Given the description of an element on the screen output the (x, y) to click on. 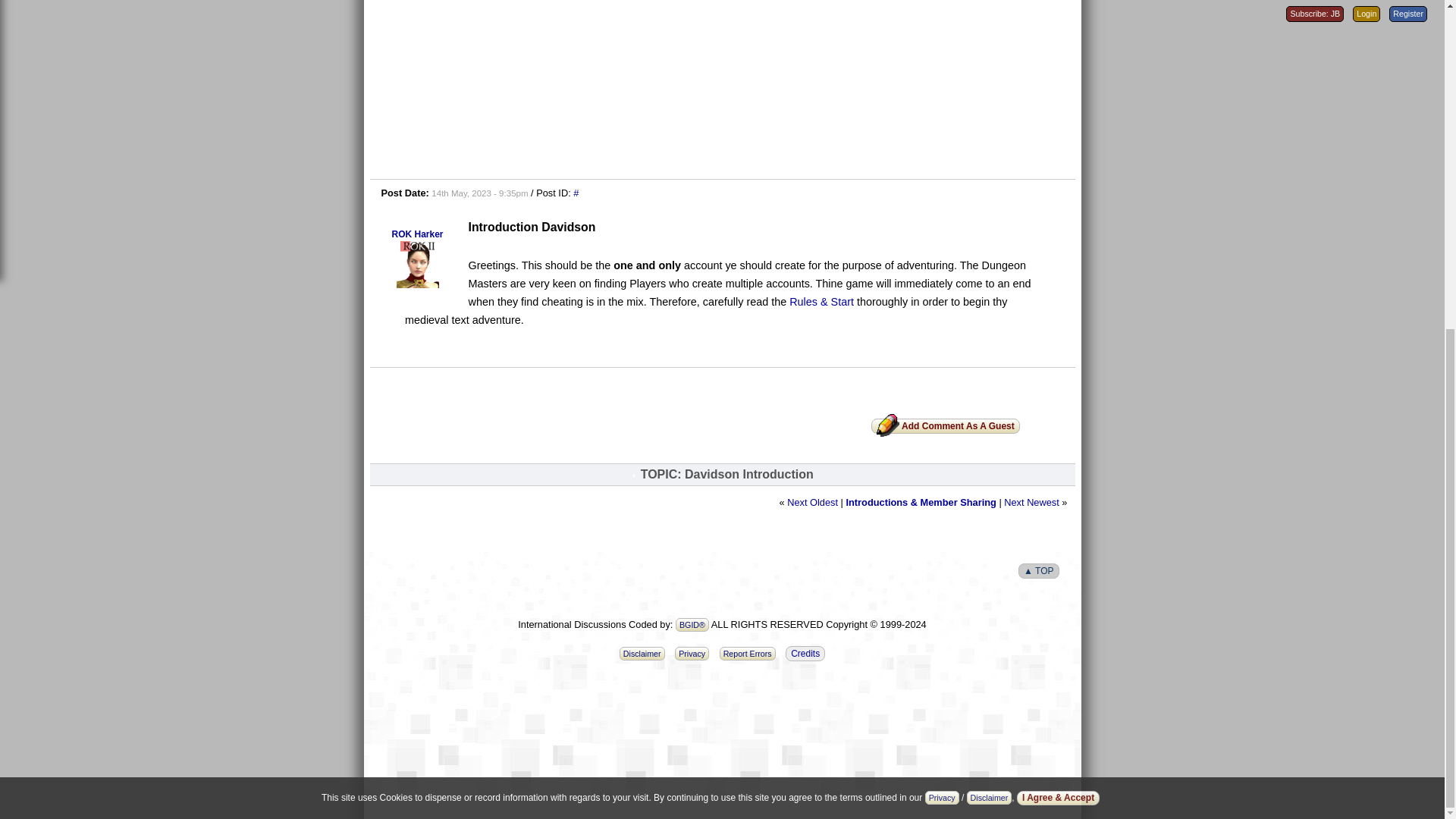
Advertisement (722, 771)
Advertisement (722, 86)
